Given the description of an element on the screen output the (x, y) to click on. 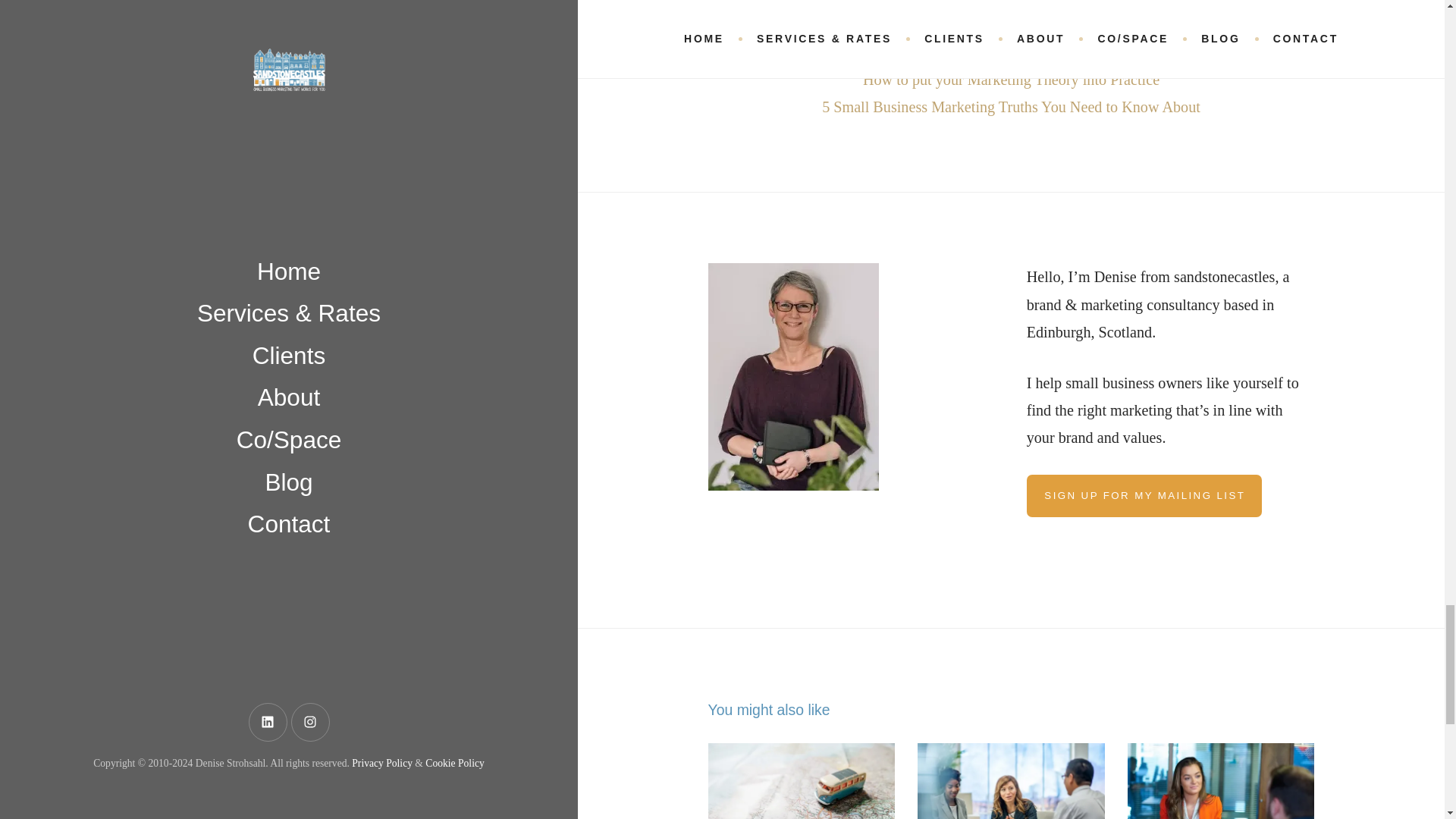
5 Things to do Before Outsourcing your Marketing (1011, 780)
A Roadmap to Small Business Marketing (801, 780)
